Given the description of an element on the screen output the (x, y) to click on. 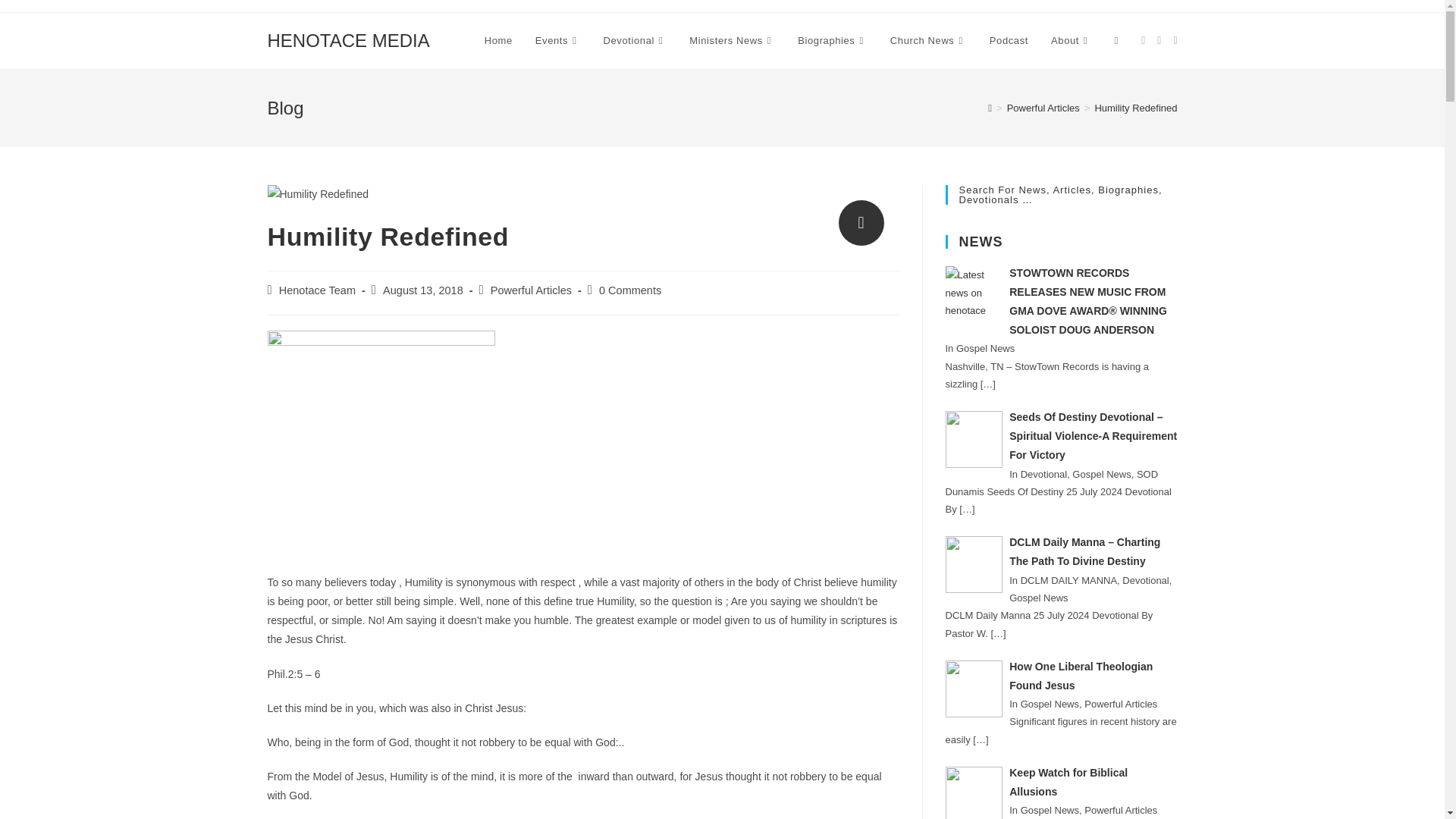
Devotional (635, 40)
Home (498, 40)
HENOTACE MEDIA (347, 40)
Posts by Henotace Team (317, 290)
Events (558, 40)
Ministers News (732, 40)
Biographies (832, 40)
